Given the description of an element on the screen output the (x, y) to click on. 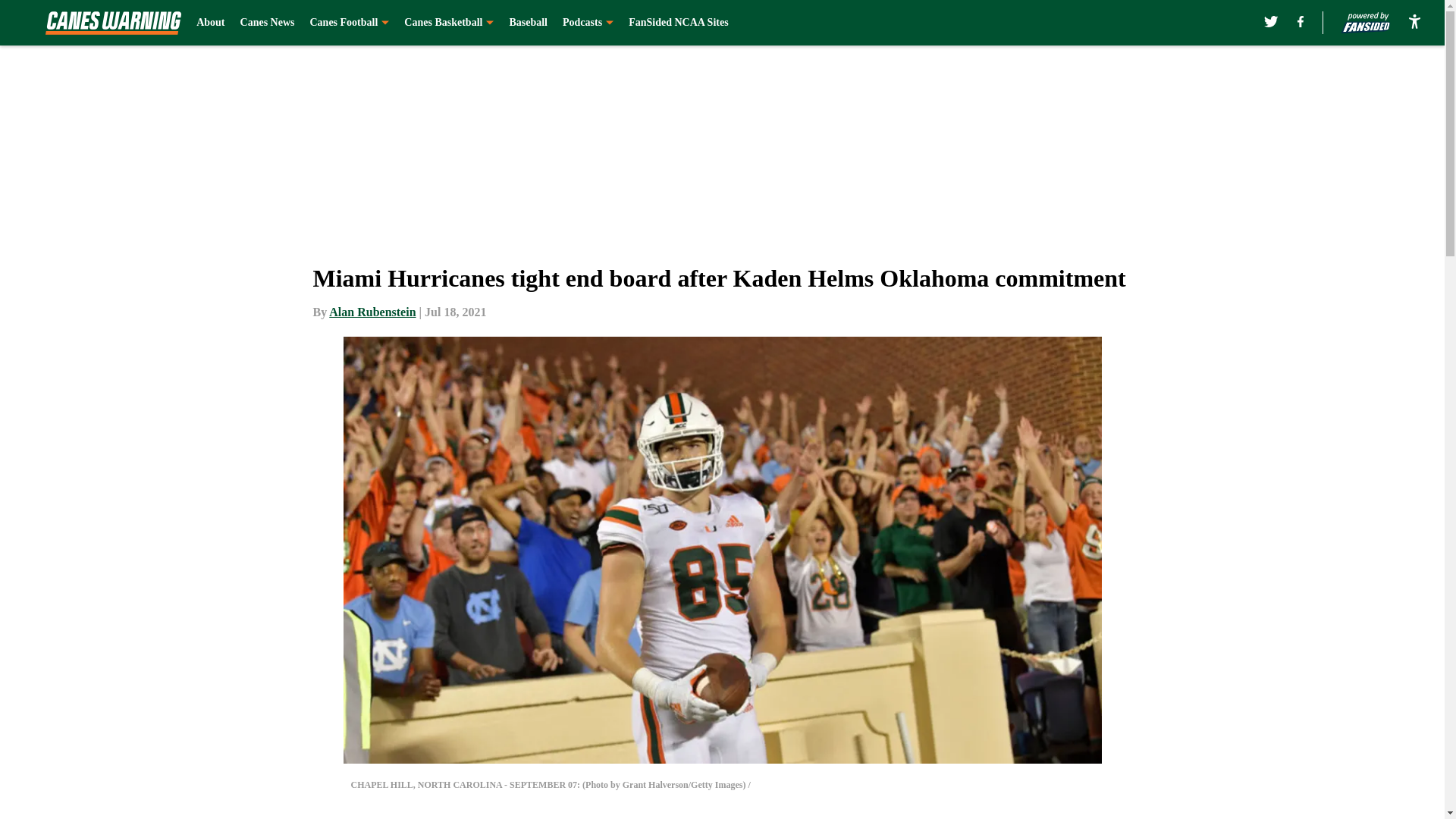
About (210, 22)
FanSided NCAA Sites (678, 22)
Canes News (267, 22)
Baseball (527, 22)
Alan Rubenstein (371, 311)
